Given the description of an element on the screen output the (x, y) to click on. 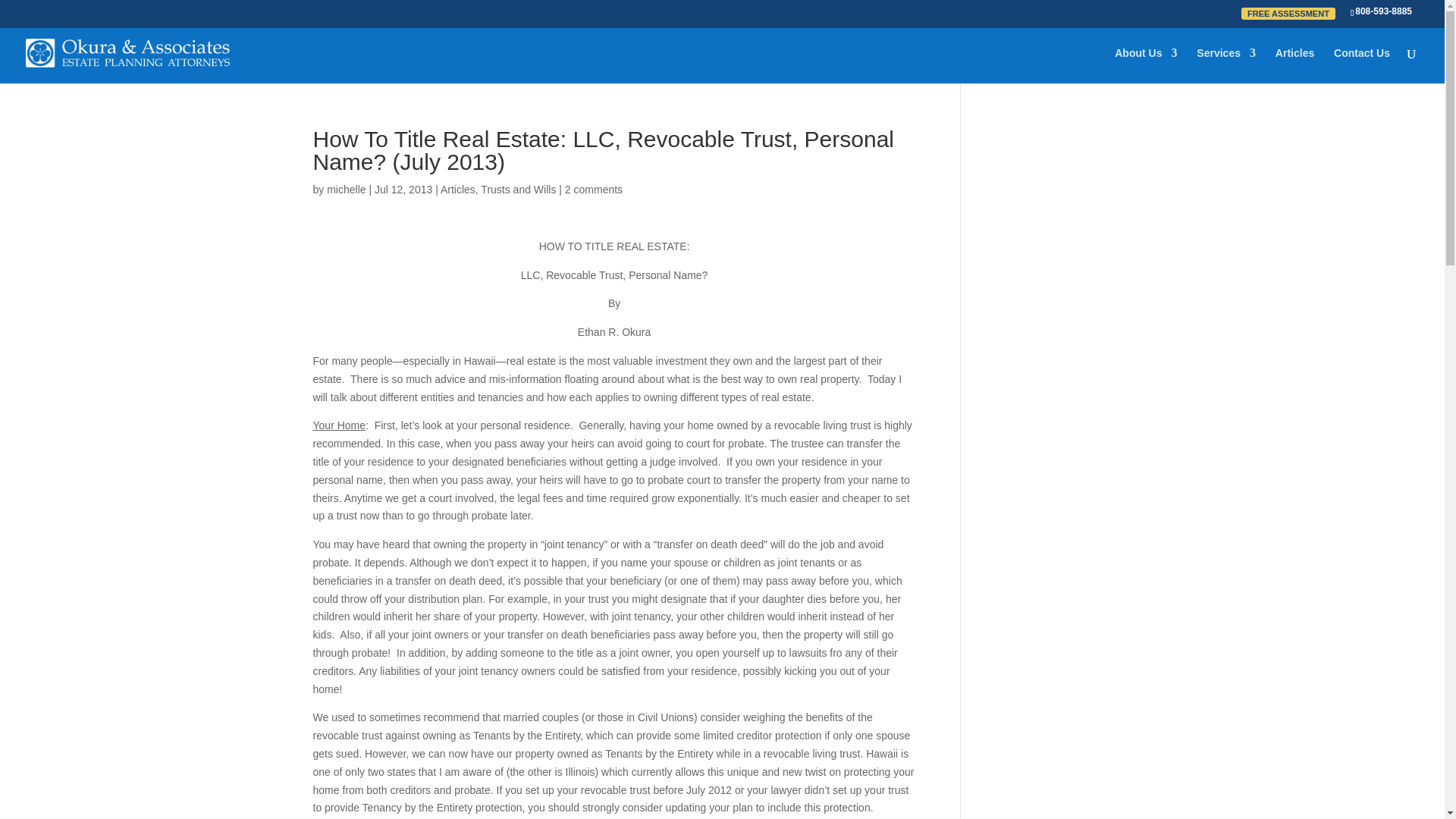
Articles (1294, 65)
michelle (345, 189)
Posts by michelle (345, 189)
Contact Us (1361, 65)
FREE ASSESSMENT (1296, 16)
Services (1225, 65)
2 comments (593, 189)
About Us (1145, 65)
Articles (458, 189)
Trusts and Wills (518, 189)
